Given the description of an element on the screen output the (x, y) to click on. 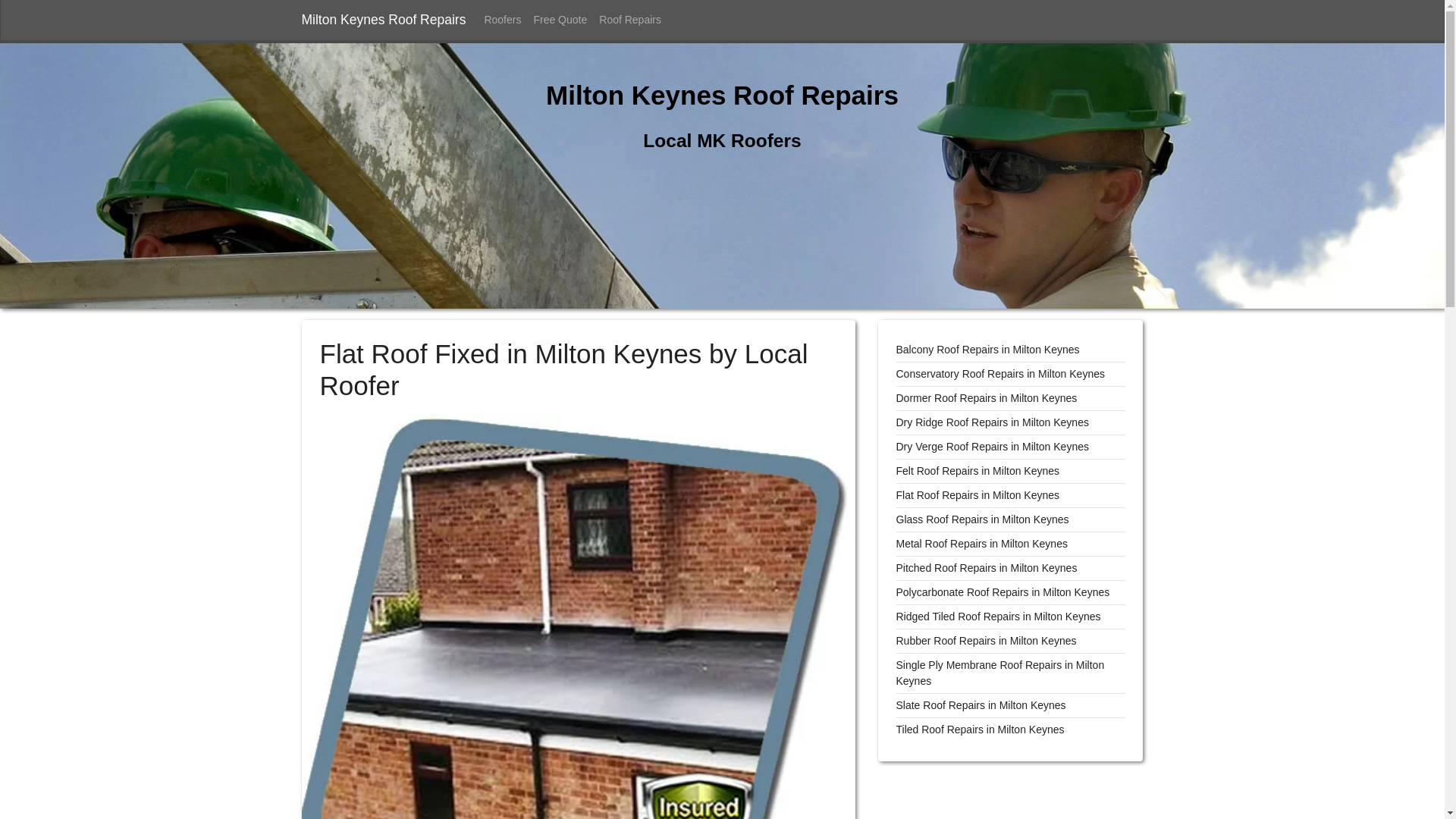
Glass Roof Repairs in Milton Keynes (982, 519)
Polycarbonate Roof Repairs in Milton Keynes (1002, 592)
Pitched Roof Repairs in Milton Keynes (986, 567)
Metal Roof Repairs in Milton Keynes (981, 543)
Rubber Roof Repairs in Milton Keynes (986, 640)
Conservatory Roof Repairs in Milton Keynes (1000, 373)
Free Quote (559, 19)
Slate Roof Repairs in Milton Keynes (980, 705)
Dormer Roof Repairs in Milton Keynes (986, 398)
Single Ply Membrane Roof Repairs in Milton Keynes (1000, 673)
Dry Verge Roof Repairs in Milton Keynes (992, 446)
Roof Repairs (629, 19)
Ridged Tiled Roof Repairs in Milton Keynes (998, 616)
Balcony Roof Repairs in Milton Keynes (988, 349)
